Given the description of an element on the screen output the (x, y) to click on. 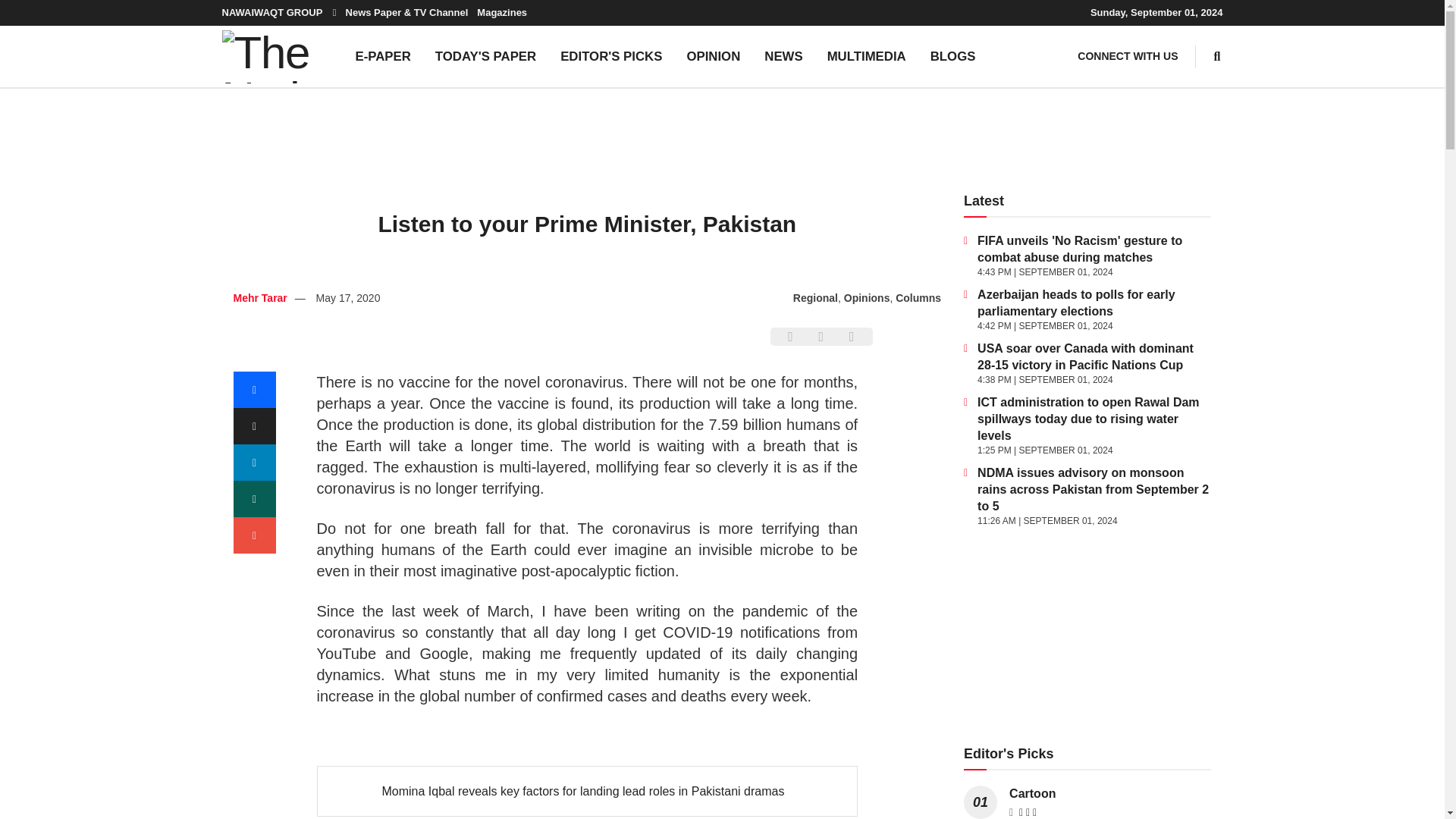
E-PAPER (382, 55)
BLOGS (953, 55)
Magazines (502, 12)
OPINION (713, 55)
EDITOR'S PICKS (611, 55)
TODAY'S PAPER (485, 55)
NEWS (782, 55)
MULTIMEDIA (866, 55)
